Given the description of an element on the screen output the (x, y) to click on. 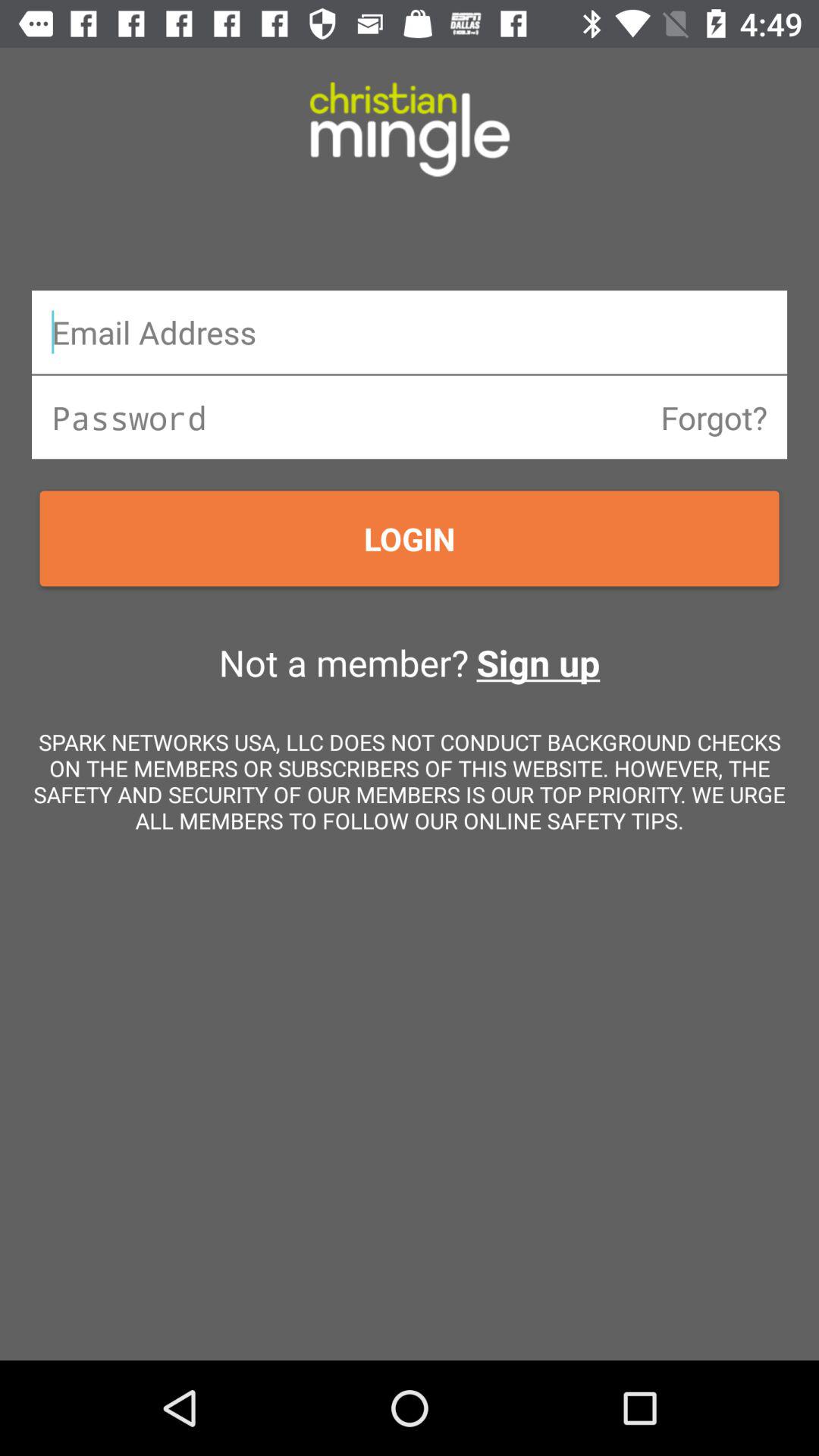
email address dialogue box (409, 331)
